Given the description of an element on the screen output the (x, y) to click on. 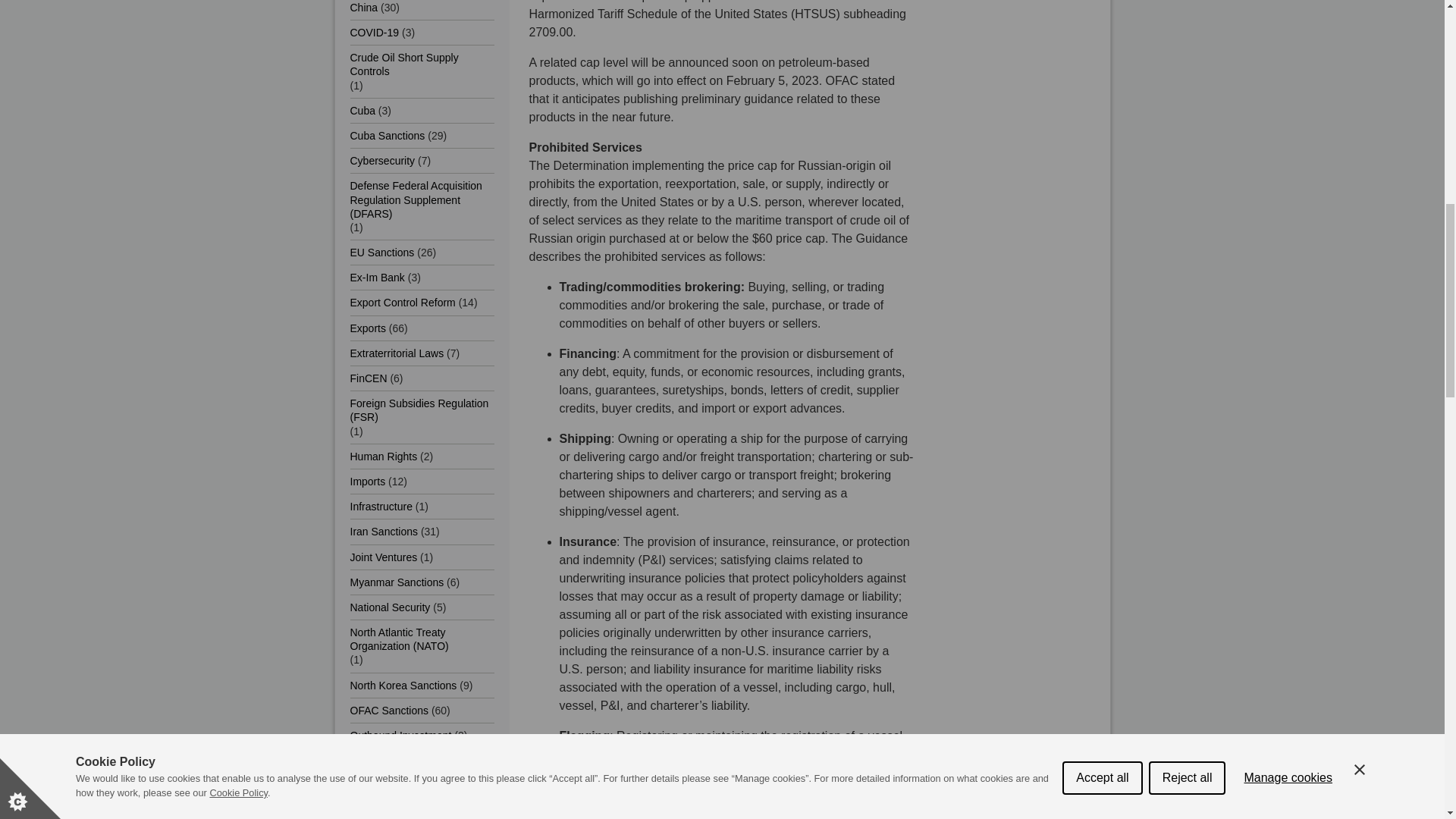
Cookie Policy (238, 47)
Accept all (1101, 24)
Manage cookies (1287, 8)
Reject all (1186, 12)
